Given the description of an element on the screen output the (x, y) to click on. 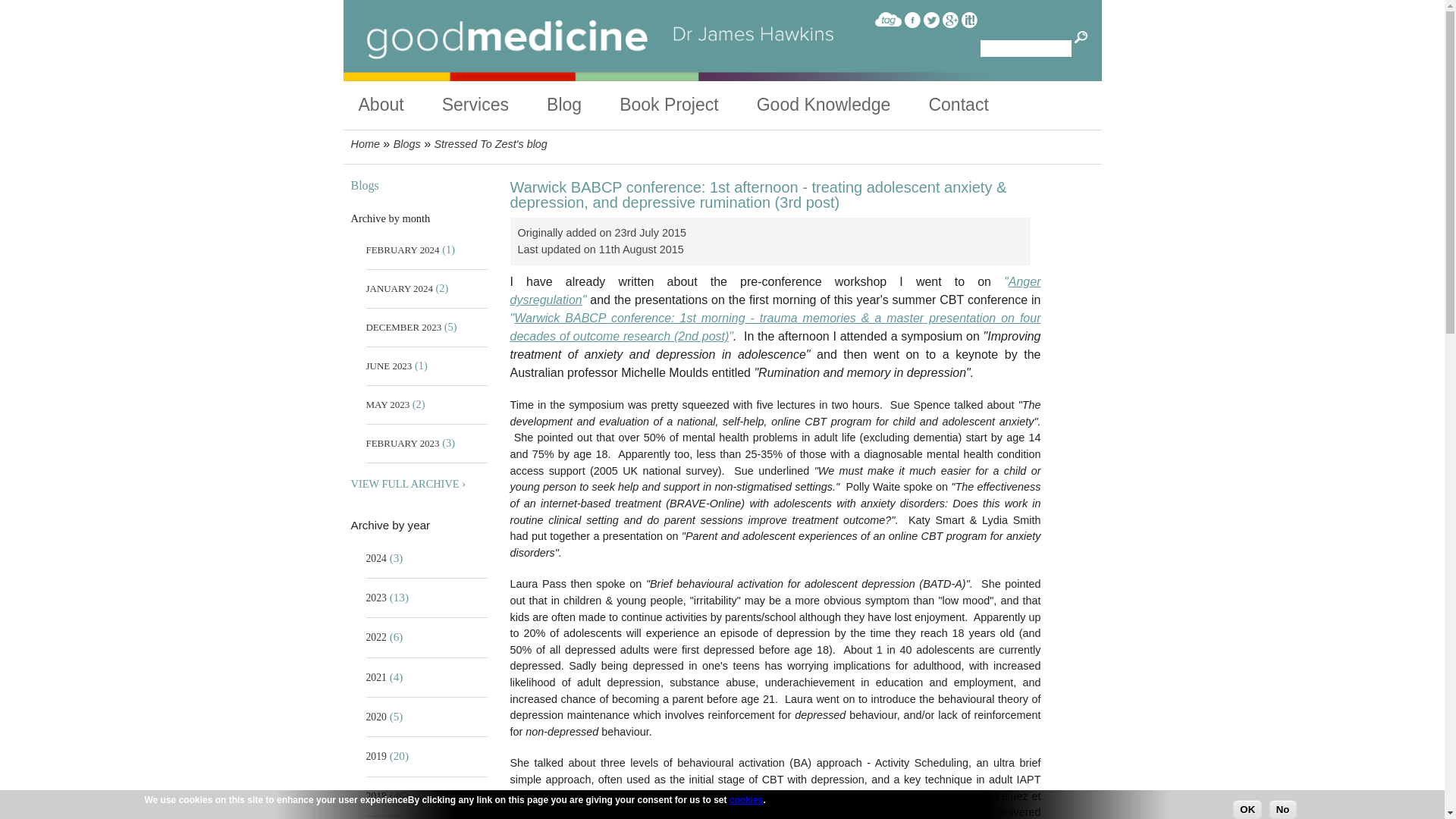
Enter the terms you wish to search for. (1024, 48)
Search (1081, 38)
Services (494, 104)
Blog (583, 104)
Search (1081, 38)
Book Project (688, 104)
clinic details (494, 104)
Good Knowledge (842, 104)
About (399, 104)
background information (399, 104)
